Given the description of an element on the screen output the (x, y) to click on. 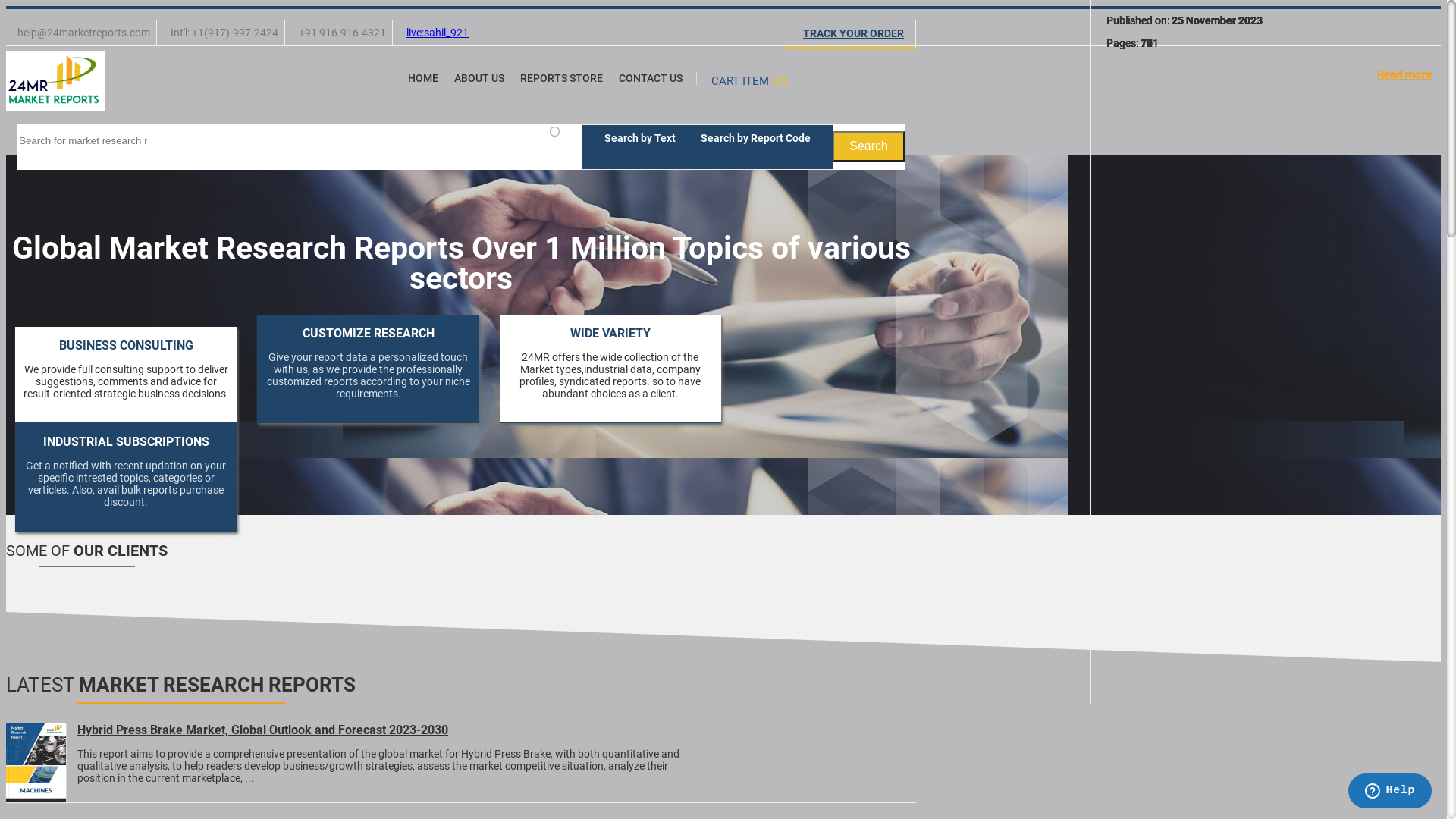
REPORTS STORE Element type: text (561, 78)
CONTACT US Element type: text (650, 78)
HOME Element type: text (422, 78)
live:sahil_921 Element type: text (437, 32)
Search Element type: text (868, 146)
ABOUT US Element type: text (479, 78)
Opens a widget where you can chat to one of our agents Element type: hover (1389, 792)
Read more Element type: text (1404, 74)
CART ITEM (0) Element type: text (747, 80)
TRACK YOUR ORDER Element type: text (850, 33)
